Given the description of an element on the screen output the (x, y) to click on. 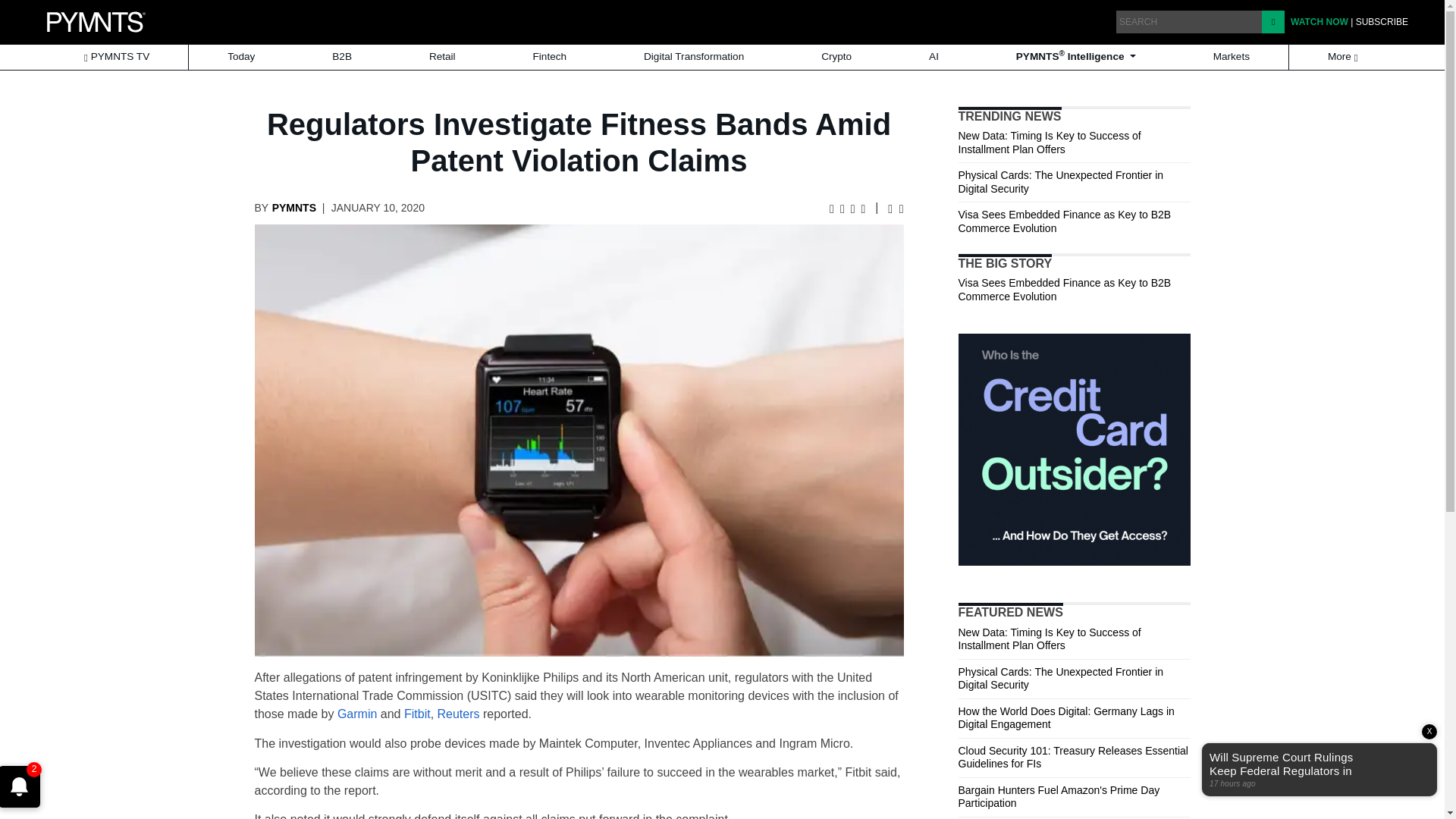
Fintech (550, 57)
More  (1343, 57)
Posts by PYMNTS (293, 207)
SUBSCRIBE (1381, 21)
Today (241, 57)
Crypto (836, 57)
 PYMNTS TV (116, 57)
Markets (1231, 57)
B2B (342, 57)
AI (932, 57)
Retail (442, 57)
WATCH NOW (1319, 21)
Digital Transformation (694, 57)
